Given the description of an element on the screen output the (x, y) to click on. 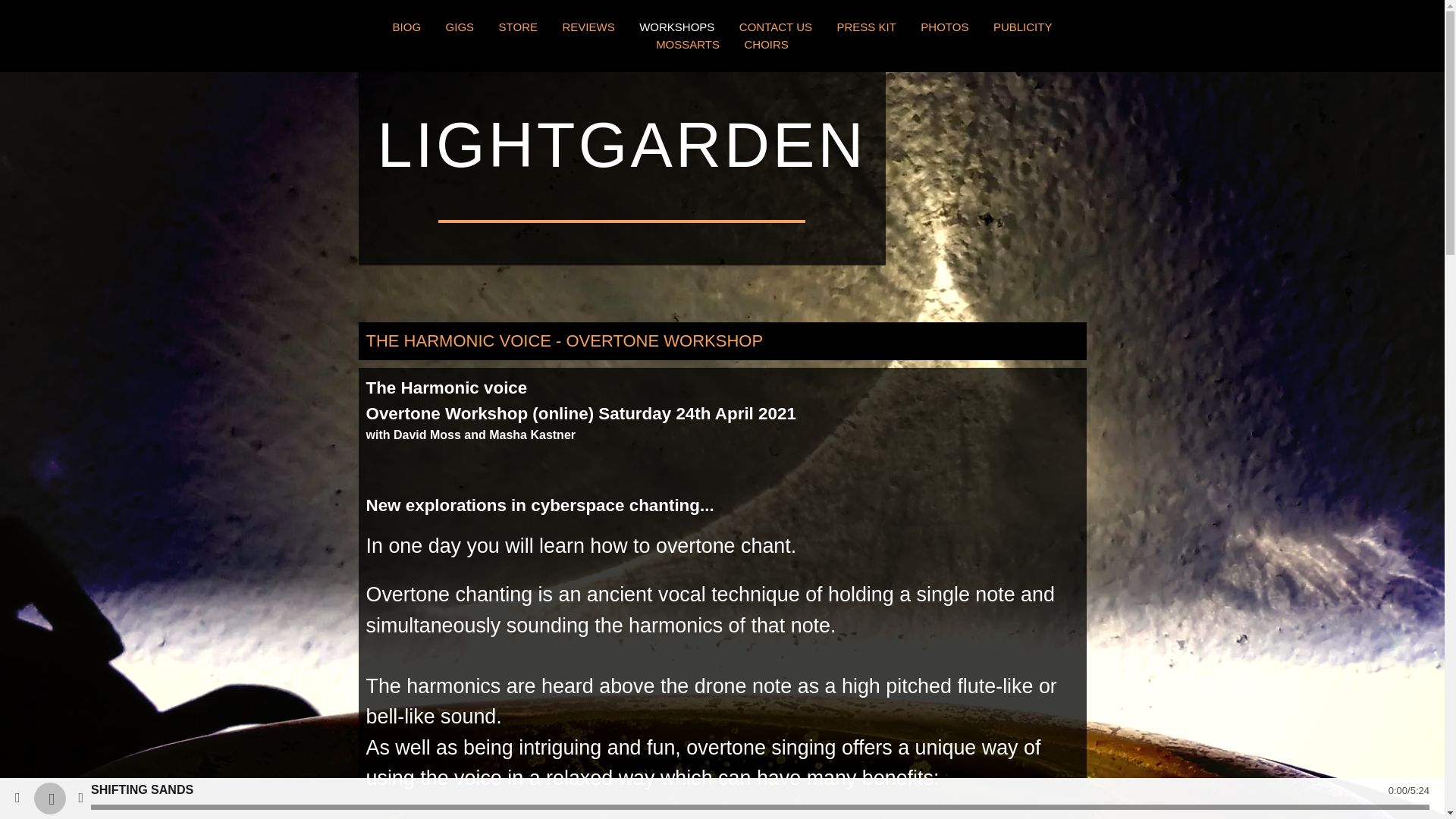
MOSSARTS (687, 45)
REVIEWS (588, 27)
LIGHTGARDEN (621, 159)
BIOG (407, 27)
CONTACT US (775, 27)
STORE (518, 27)
PHOTOS (944, 27)
GIGS (459, 27)
PRESS KIT (865, 27)
PUBLICITY (1022, 27)
